Given the description of an element on the screen output the (x, y) to click on. 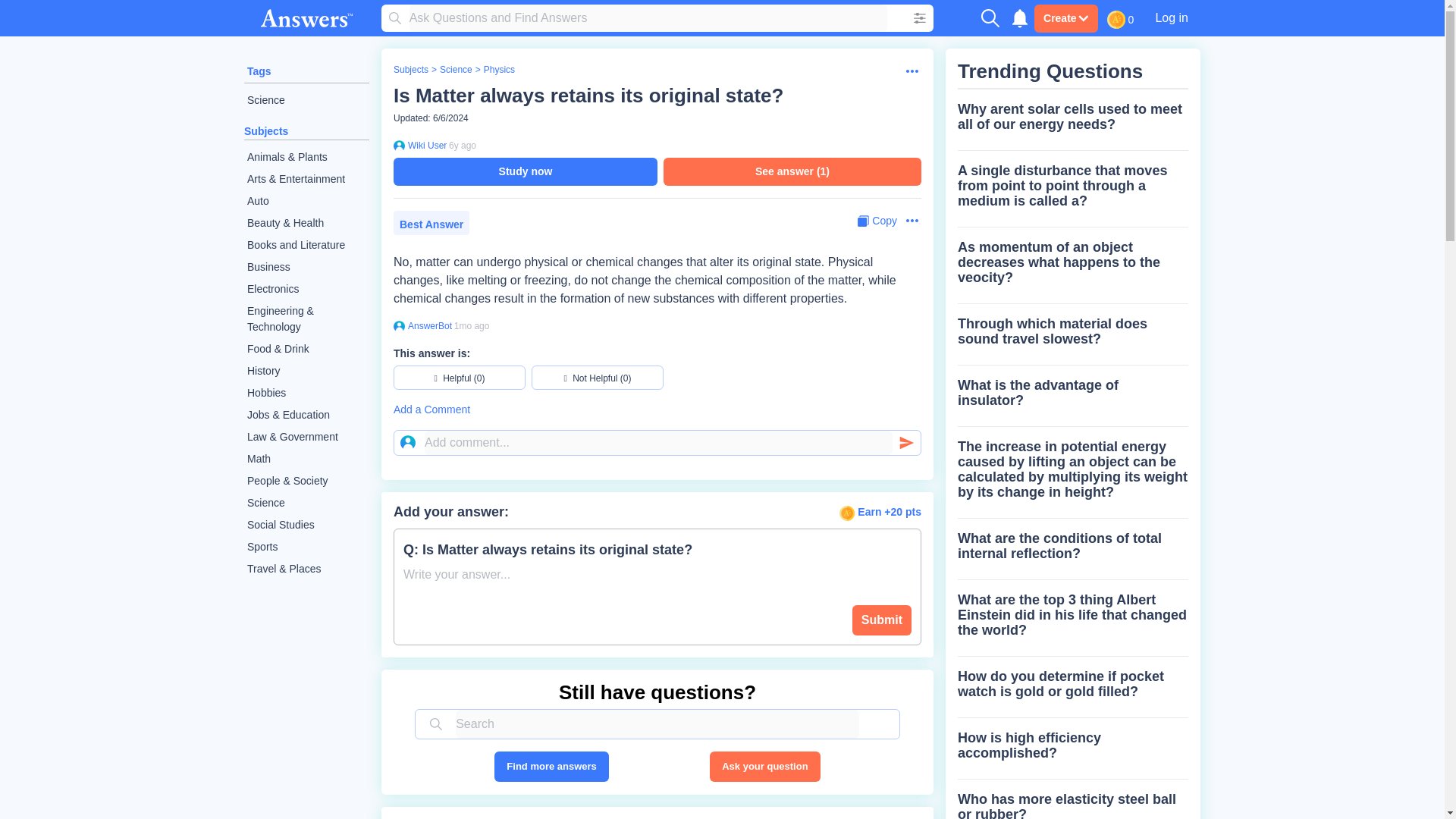
Science (306, 100)
2024-06-06 17:23:57 (471, 326)
AnswerBot (429, 326)
Science (306, 503)
Add a Comment (657, 409)
Business (306, 267)
Subjects (410, 69)
Books and Literature (306, 245)
Math (306, 458)
Log in (1170, 17)
Ask your question (764, 766)
Tags (258, 70)
Copy (876, 220)
Find more answers (551, 766)
Physics (499, 69)
